Given the description of an element on the screen output the (x, y) to click on. 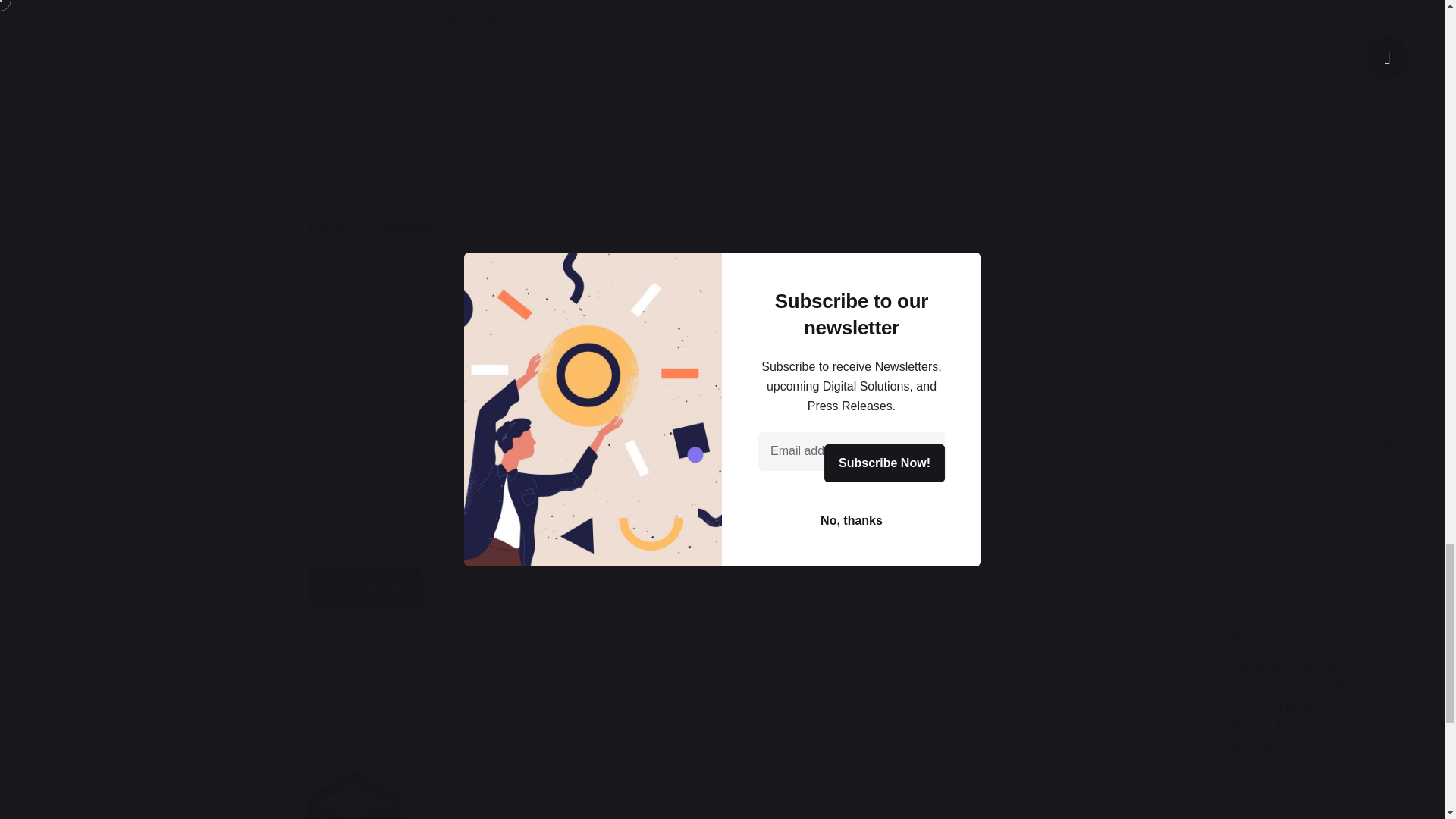
yes (312, 386)
